Given the description of an element on the screen output the (x, y) to click on. 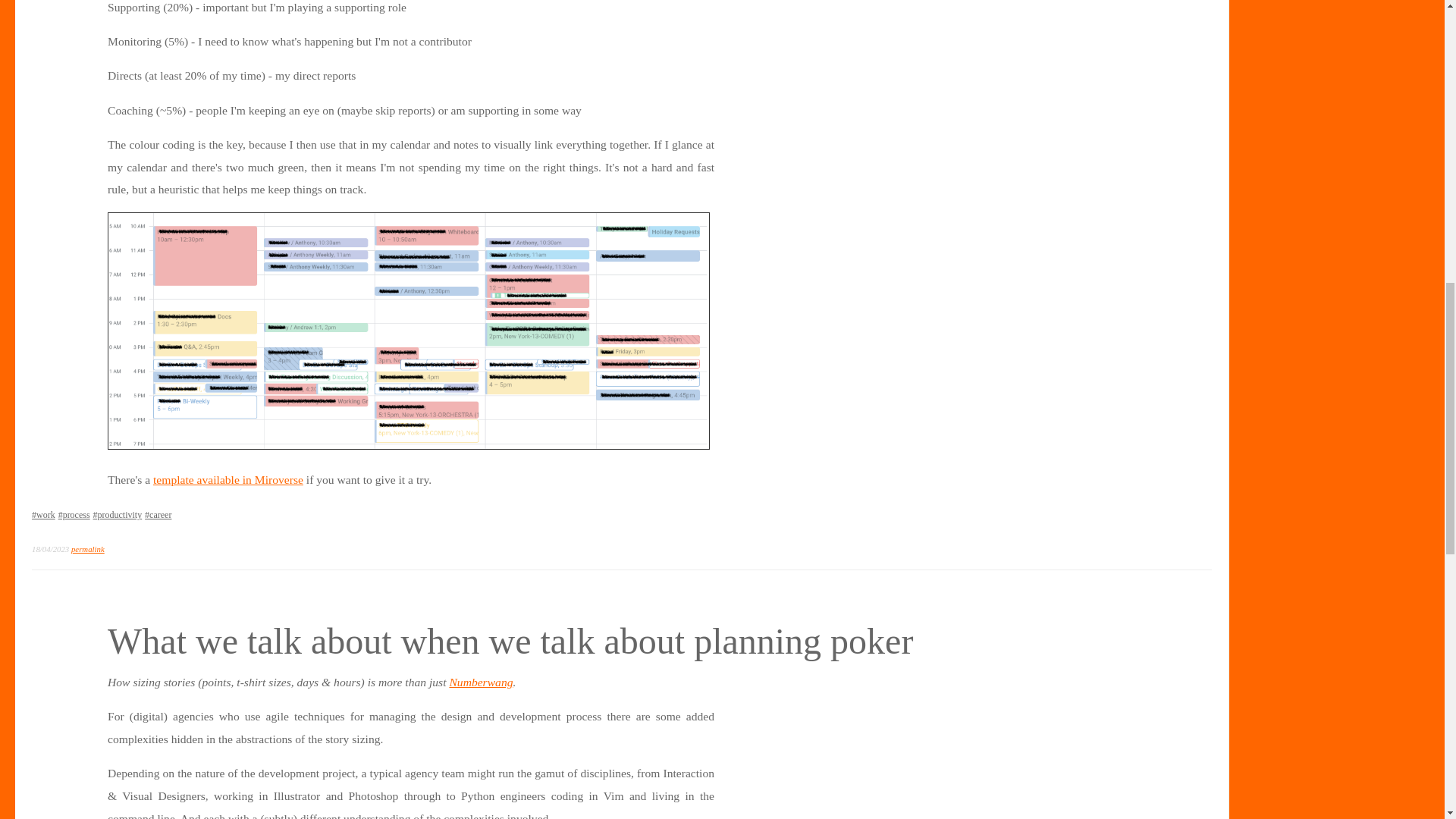
template available in Miroverse (227, 479)
Numberwang (480, 681)
permalink (87, 548)
